Given the description of an element on the screen output the (x, y) to click on. 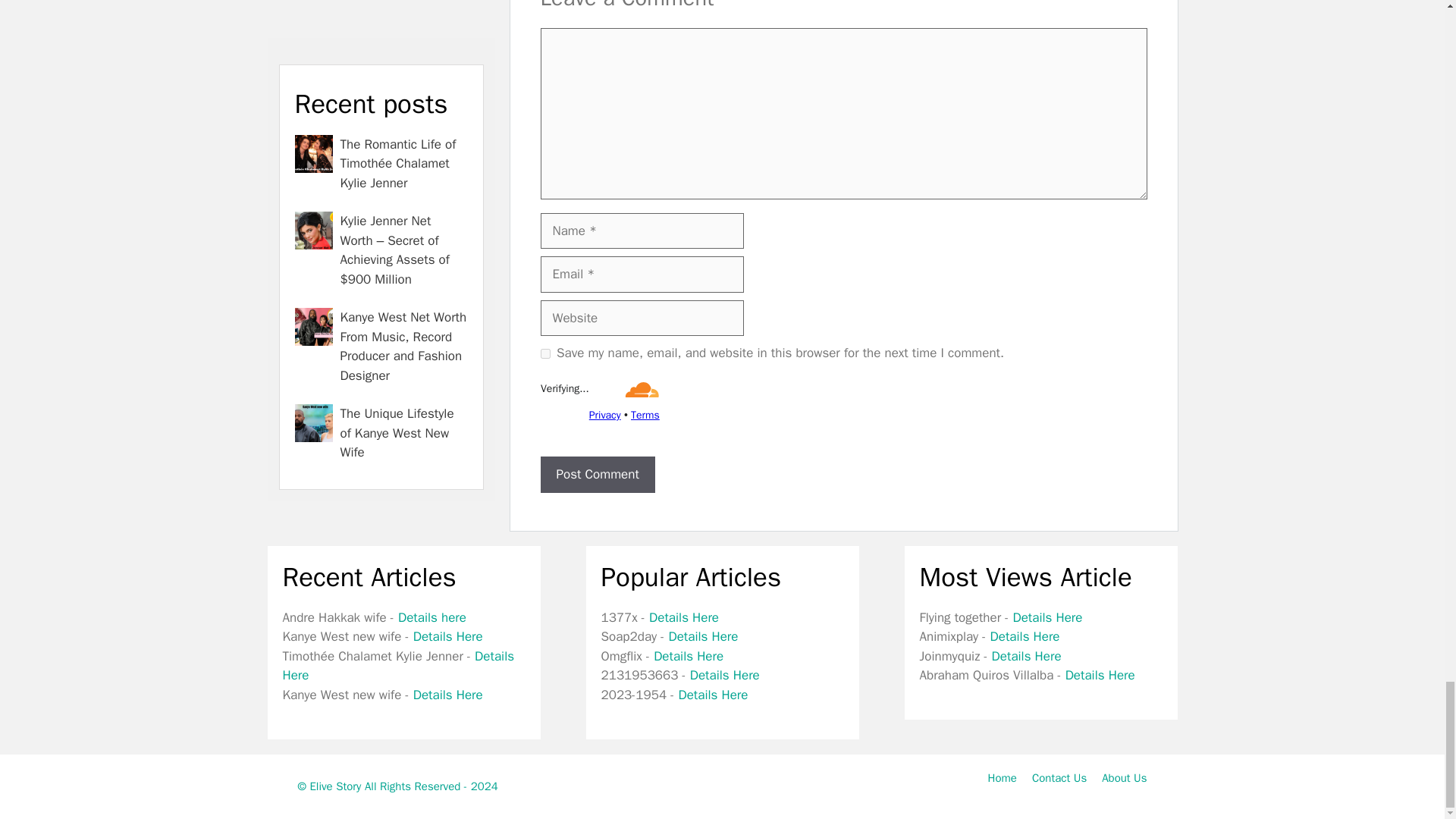
Post Comment (596, 474)
yes (545, 353)
